Given the description of an element on the screen output the (x, y) to click on. 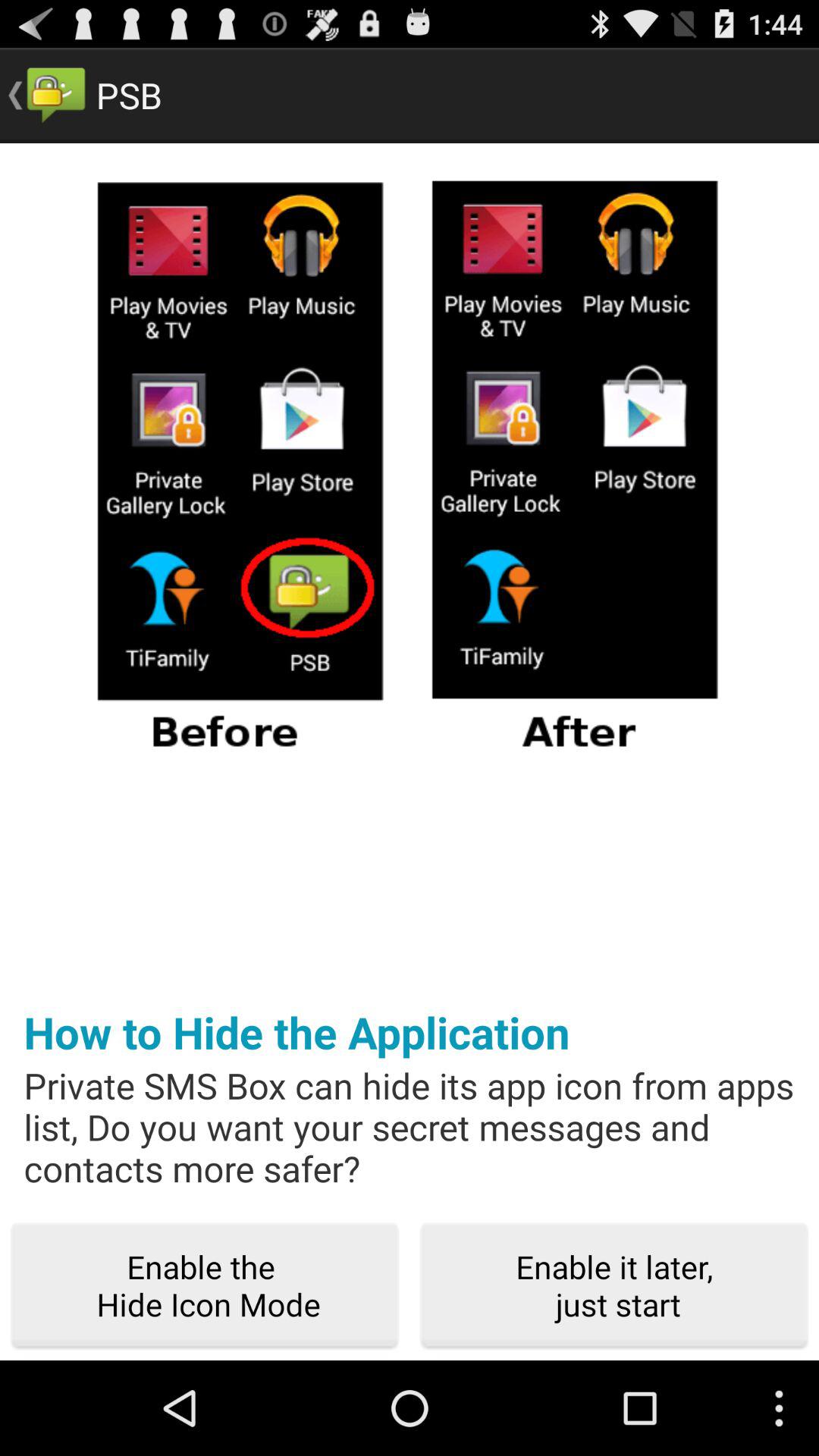
press the app below private sms box app (613, 1286)
